Given the description of an element on the screen output the (x, y) to click on. 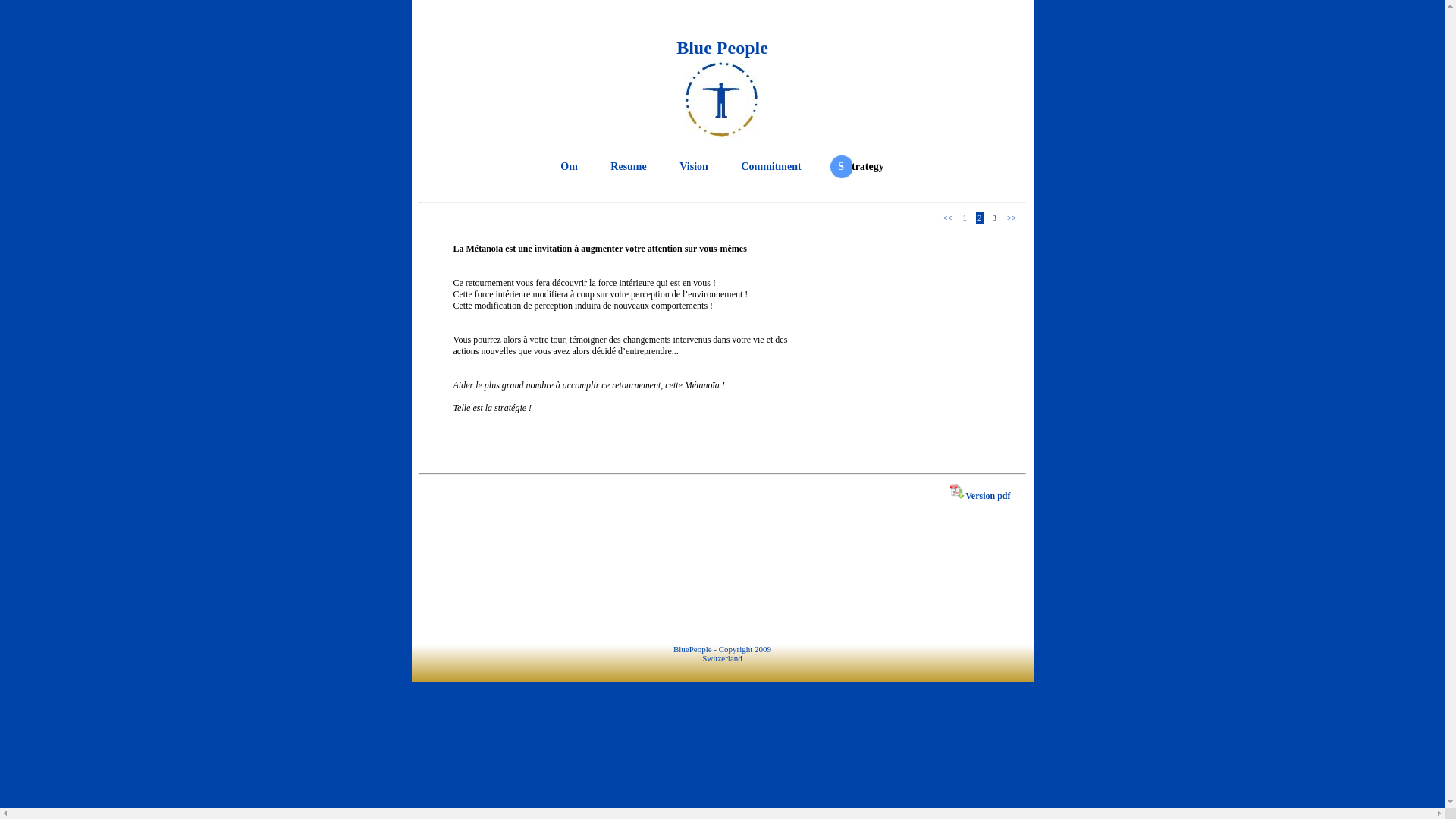
3 Element type: text (994, 217)
Vision Element type: text (693, 165)
2 Element type: text (979, 217)
Version pdf Element type: text (979, 495)
Resume Element type: text (627, 165)
Commitment Element type: text (770, 165)
<< Element type: text (947, 217)
>> Element type: text (1011, 217)
Om Element type: text (568, 165)
1 Element type: text (965, 217)
